Given the description of an element on the screen output the (x, y) to click on. 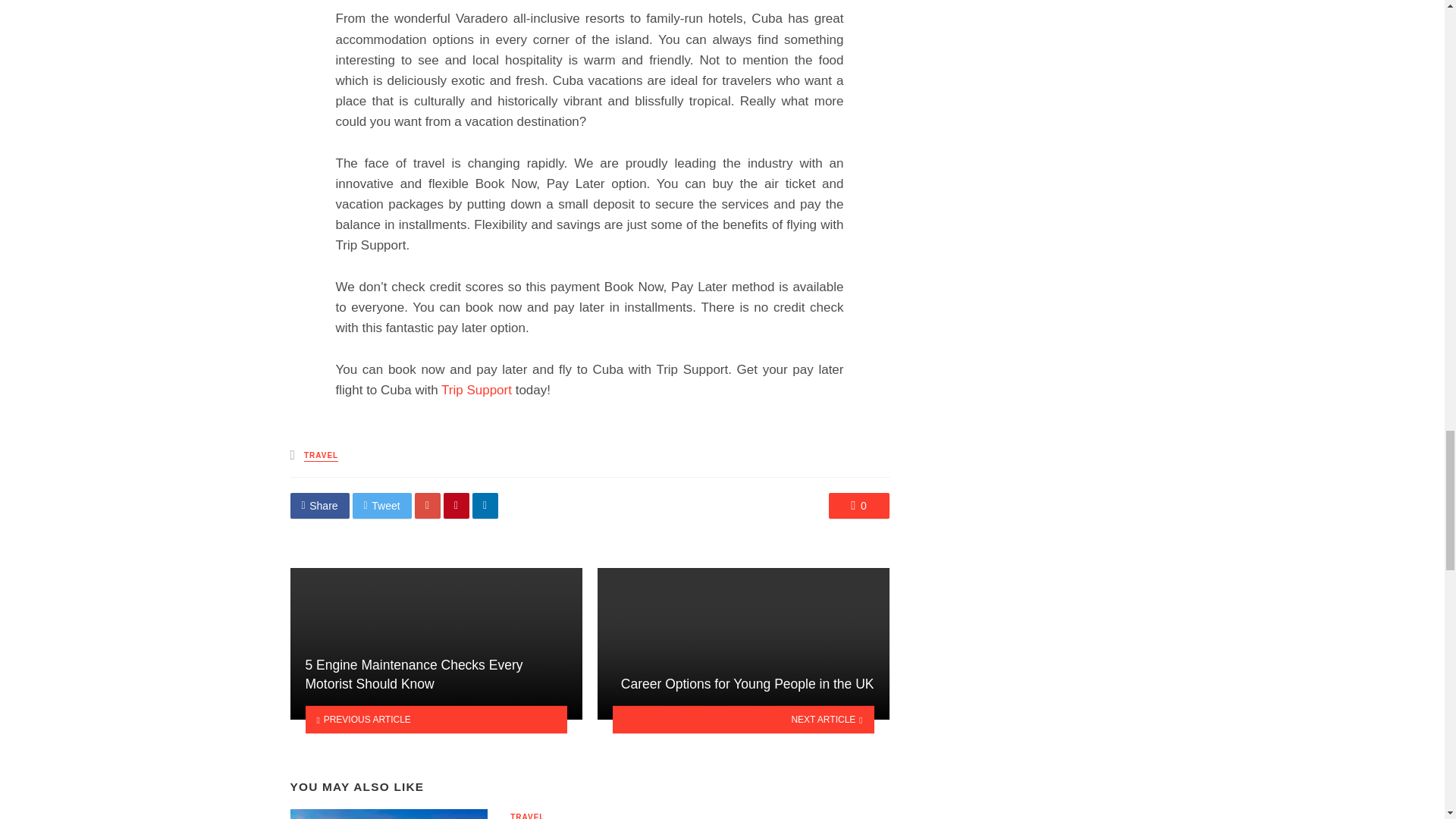
0 (858, 505)
Share on Twitter (382, 505)
0 Comments (858, 505)
Share on Linkedin (484, 505)
Share on Pinterest (456, 505)
NEXT ARTICLE (742, 719)
TRAVEL (527, 815)
PREVIOUS ARTICLE (434, 719)
TRAVEL (320, 455)
Trip Support (476, 390)
Tweet (382, 505)
Share on Facebook (319, 505)
Share (319, 505)
